Given the description of an element on the screen output the (x, y) to click on. 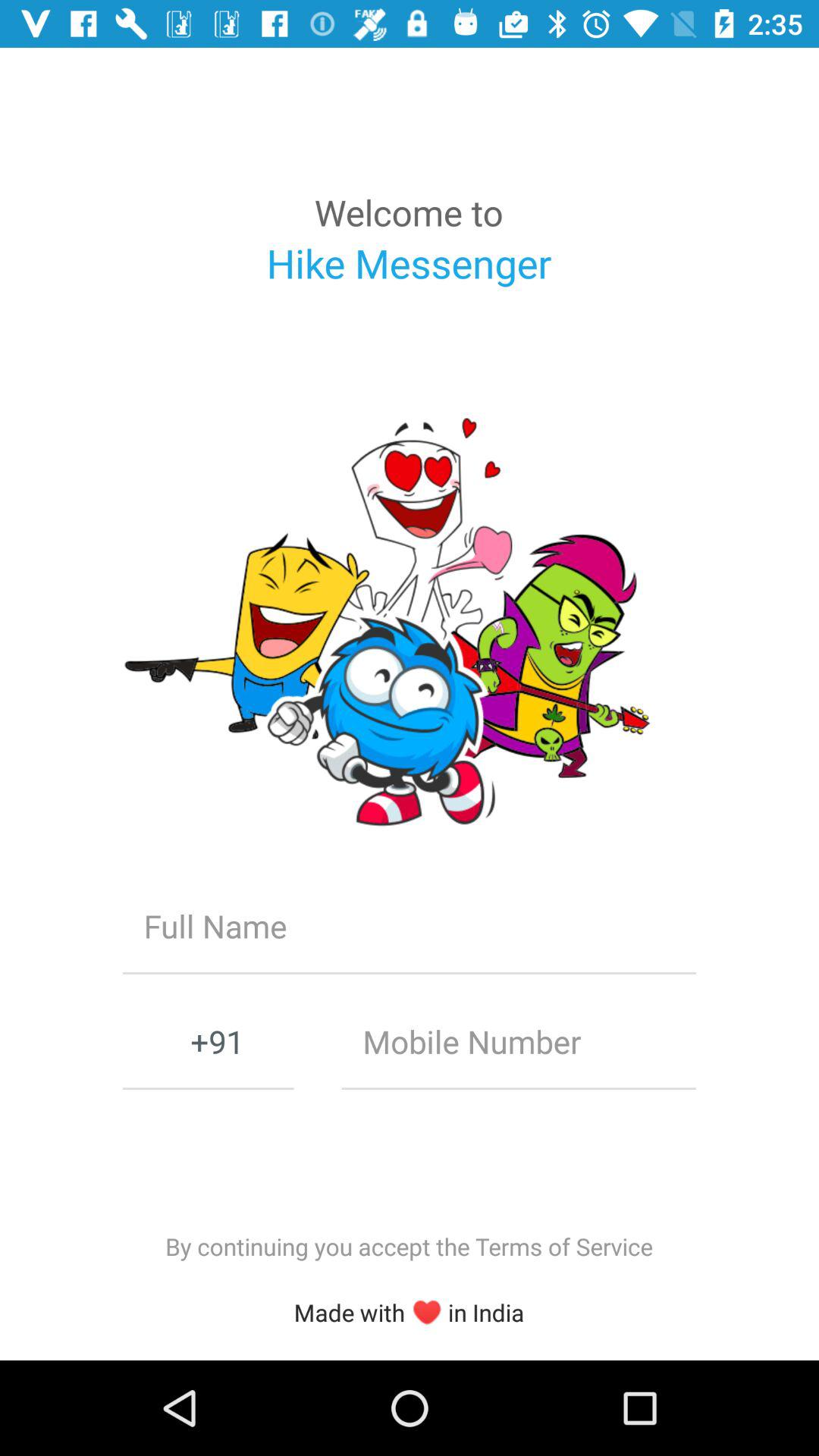
select icon above made with love (408, 1246)
